Given the description of an element on the screen output the (x, y) to click on. 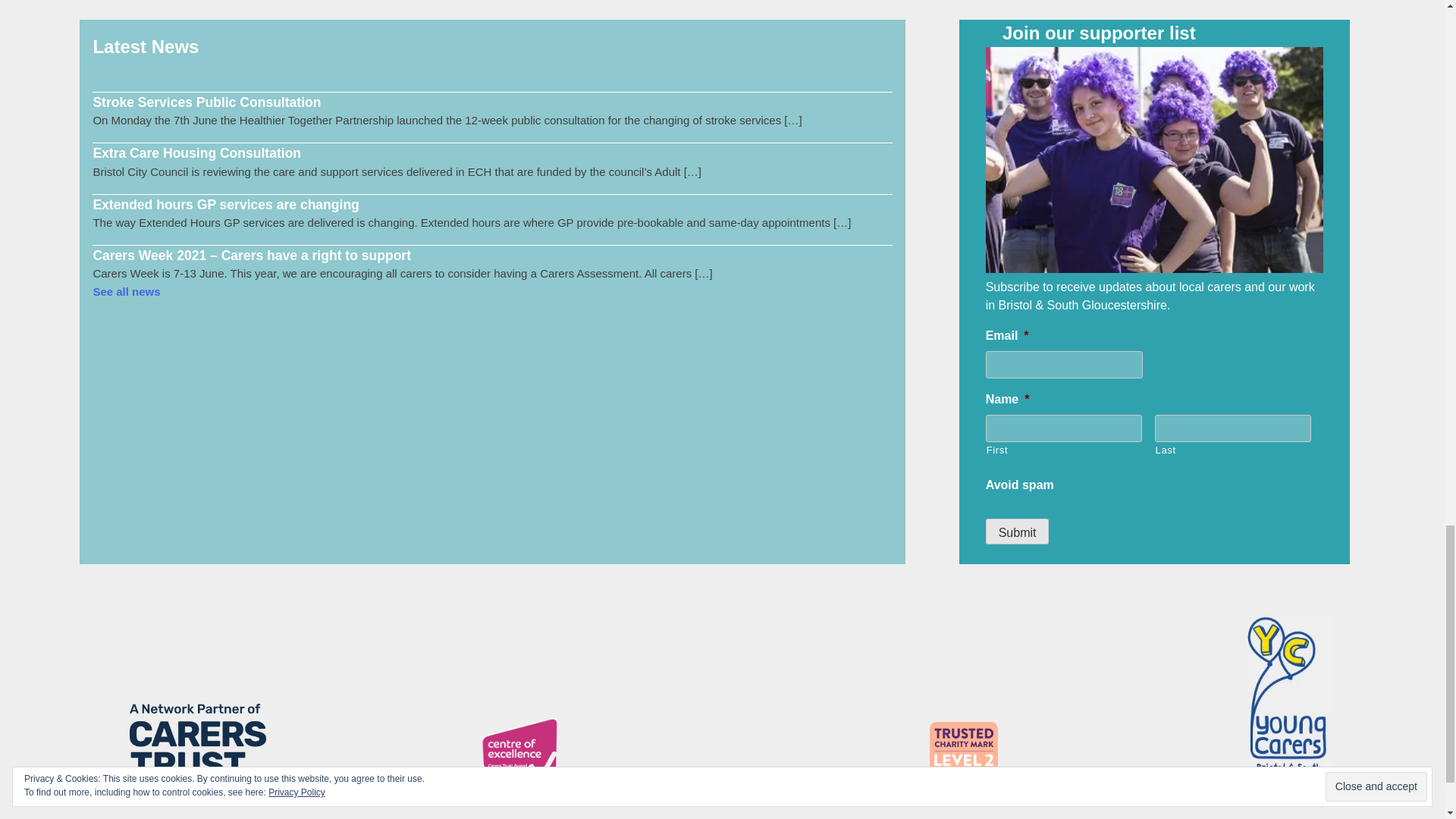
Submit (1017, 531)
